Given the description of an element on the screen output the (x, y) to click on. 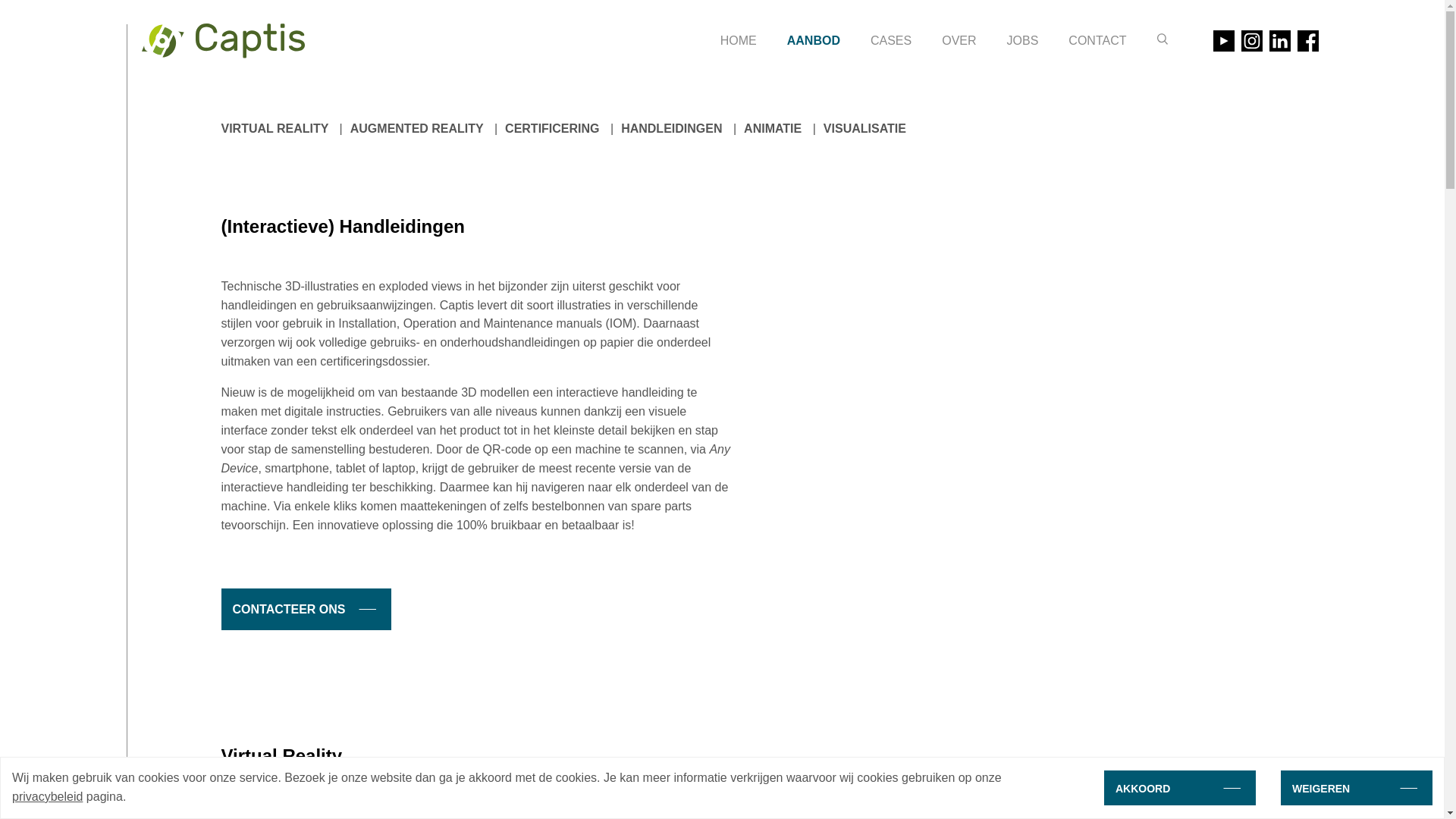
Home Element type: hover (222, 40)
CERTIFICERING Element type: text (552, 128)
Bezoek onze LinkedIn pagina Element type: hover (1279, 40)
CONTACTEER ONS Element type: text (306, 609)
ANIMATIE Element type: text (772, 128)
AUGMENTED REALITY Element type: text (416, 128)
WEIGEREN Element type: text (1356, 787)
JOBS Element type: text (1022, 40)
CONTACT Element type: text (1097, 40)
AKKOORD Element type: text (1179, 787)
Zoeken Element type: hover (1162, 38)
VIRTUAL REALITY Element type: text (275, 128)
privacybeleid Element type: text (47, 796)
VISUALISATIE Element type: text (864, 128)
OVER Element type: text (958, 40)
AANBOD Element type: text (813, 40)
Bezoek onze Youtube pagina Element type: hover (1223, 40)
HANDLEIDINGEN Element type: text (671, 128)
CASES Element type: text (890, 40)
Bezoek onze Facebook pagina Element type: hover (1306, 40)
Bezoek onze Instagram pagina Element type: hover (1250, 40)
HOME Element type: text (738, 40)
